Given the description of an element on the screen output the (x, y) to click on. 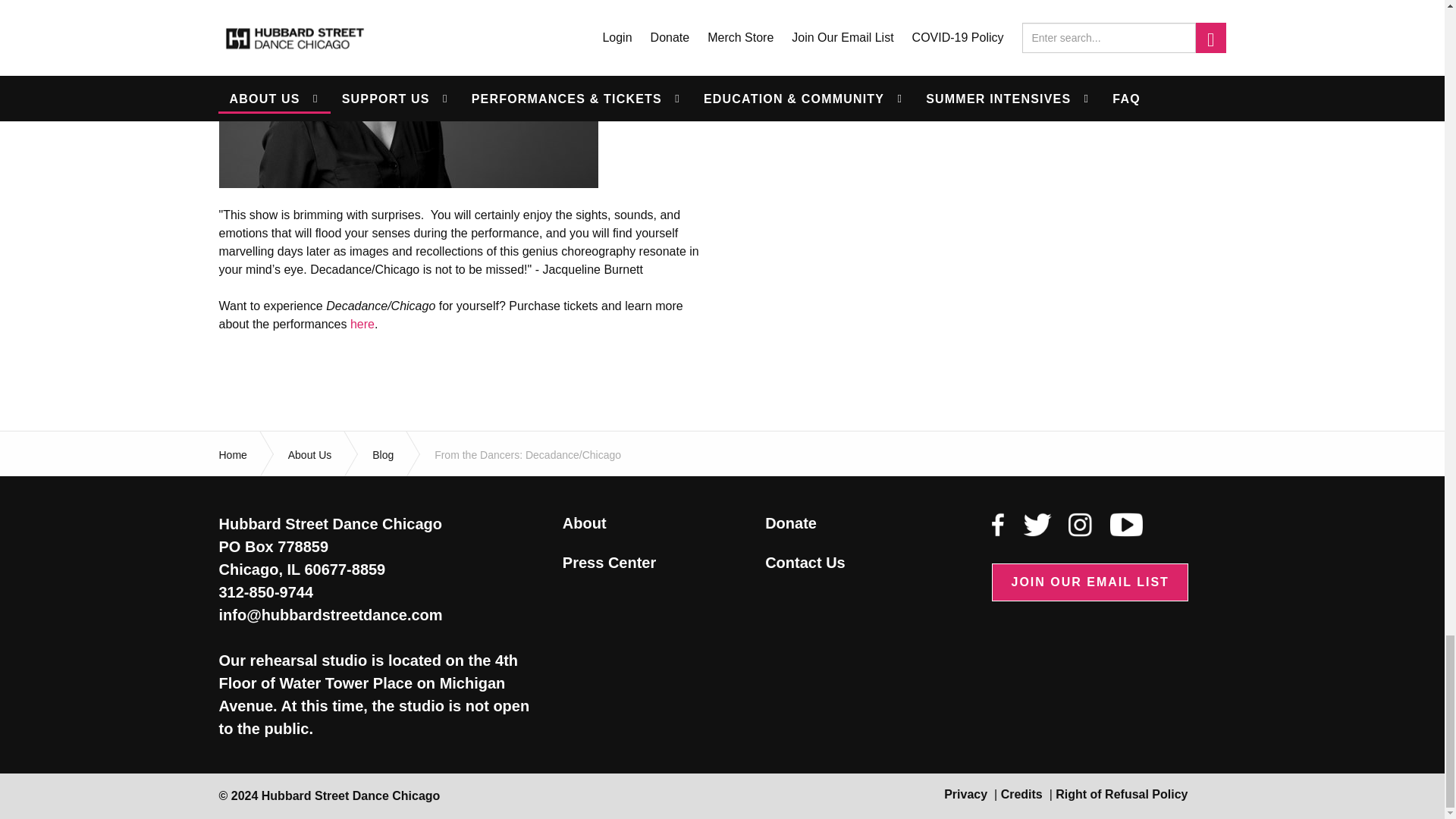
Summer Series (362, 323)
